Given the description of an element on the screen output the (x, y) to click on. 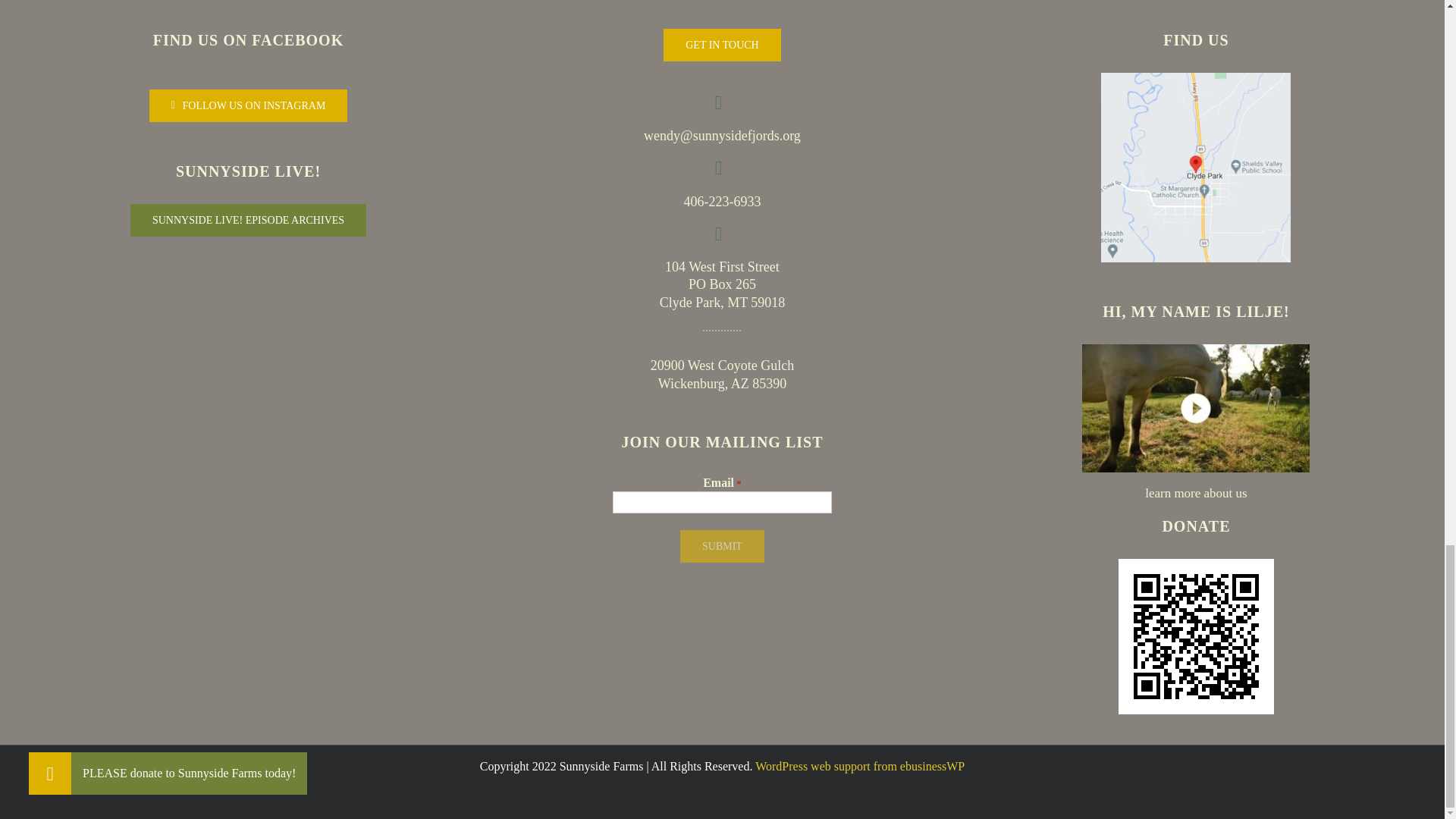
Find Us (1195, 167)
Submit (721, 545)
Hi, My Name is Lilje! (1194, 407)
